Given the description of an element on the screen output the (x, y) to click on. 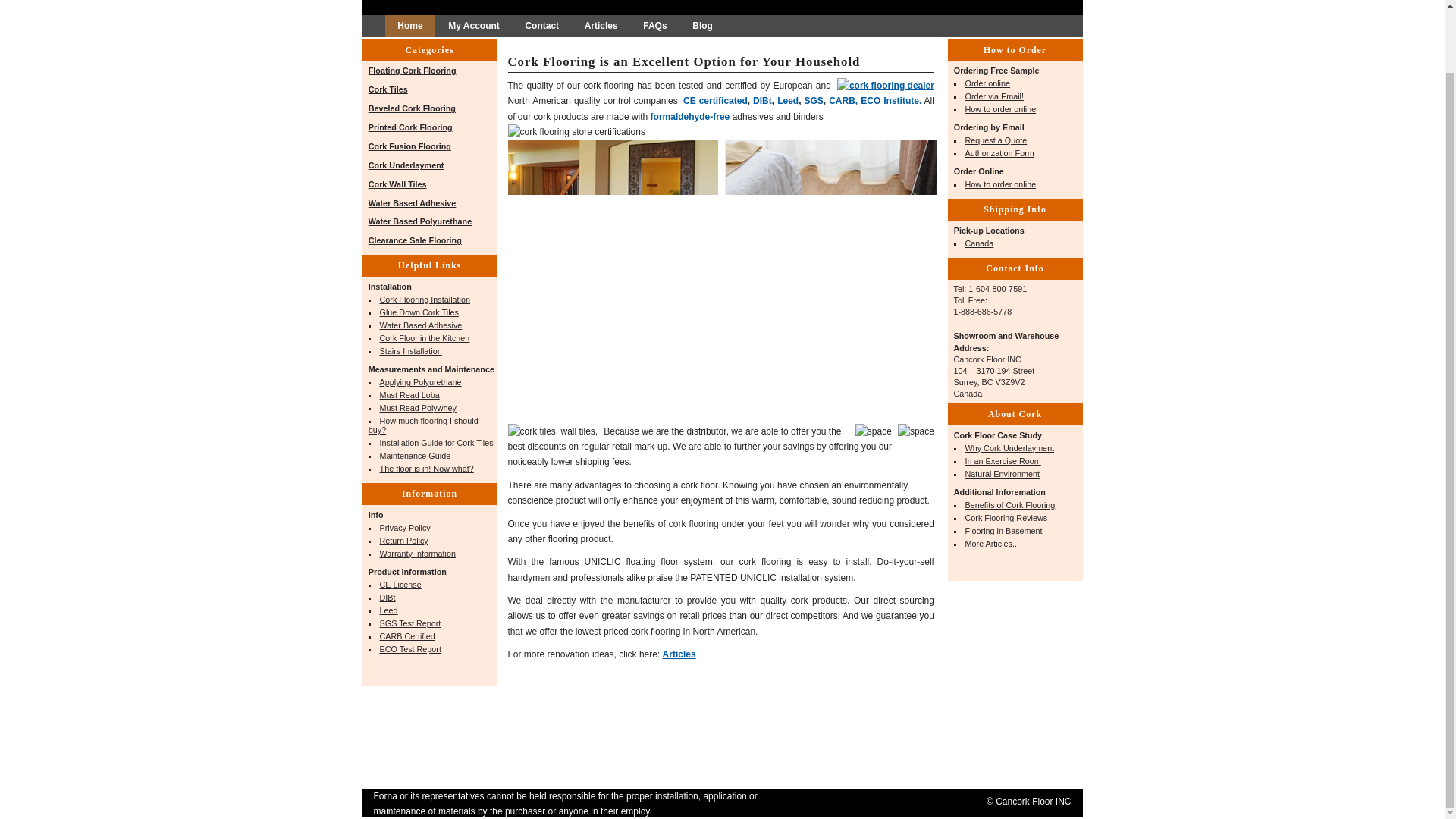
ECO Test Report (410, 648)
Water Based Adhesive (412, 203)
DIBT certification (761, 100)
My Account (473, 25)
Cork Underlayment (406, 164)
Articles (678, 654)
Must Read Loba (409, 394)
Water Based Adhesive (421, 325)
ECO (410, 648)
FAQs (654, 25)
Benefits of Cork Flooring (1010, 504)
More Articles... (992, 542)
Articles About Cork Flooring (678, 654)
How much flooring I should buy? (423, 425)
Clearance Sale Flooring (414, 239)
